Given the description of an element on the screen output the (x, y) to click on. 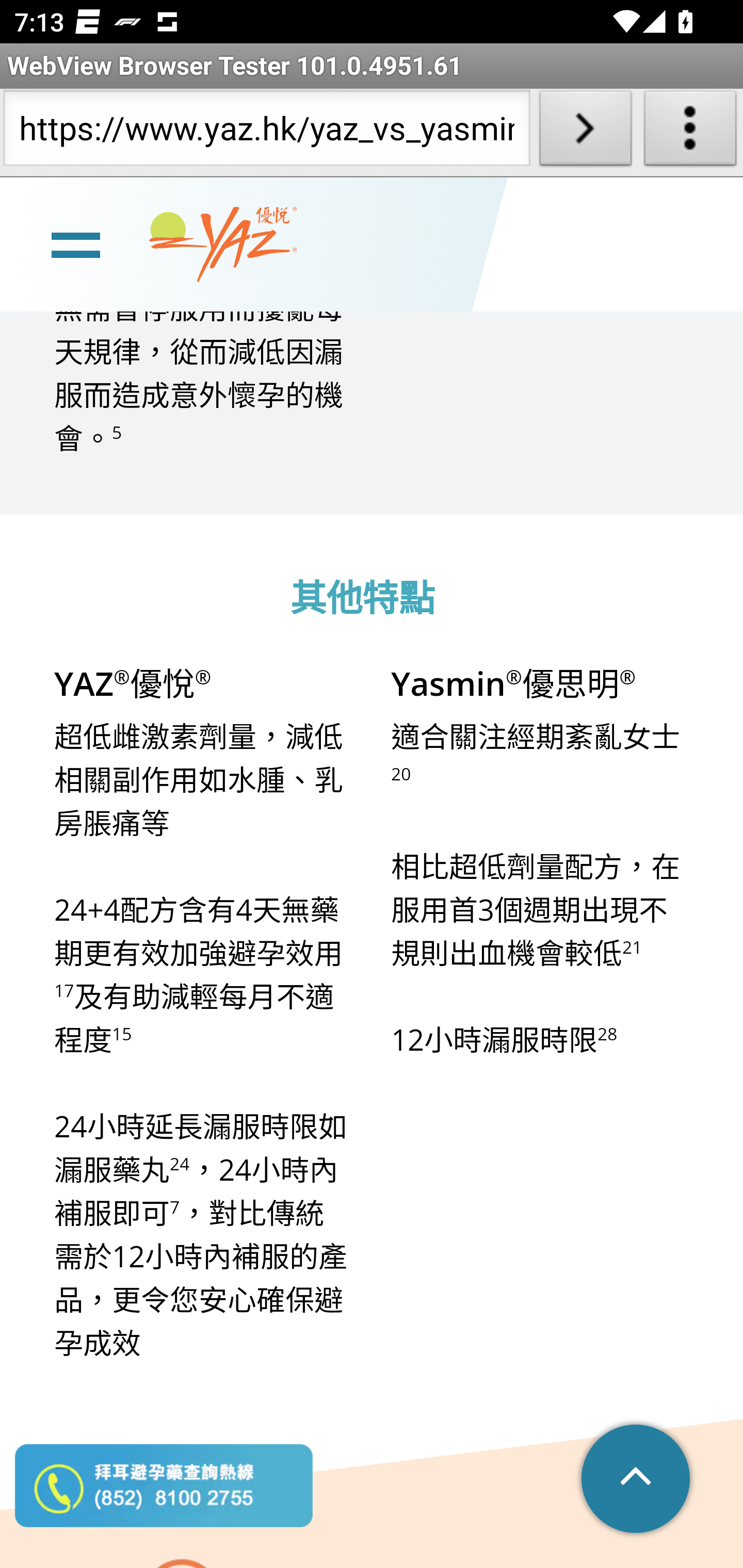
Load URL (585, 132)
About WebView (690, 132)
www.yaz (222, 244)
line Toggle burger menu (75, 245)
 (636, 1480)
